Given the description of an element on the screen output the (x, y) to click on. 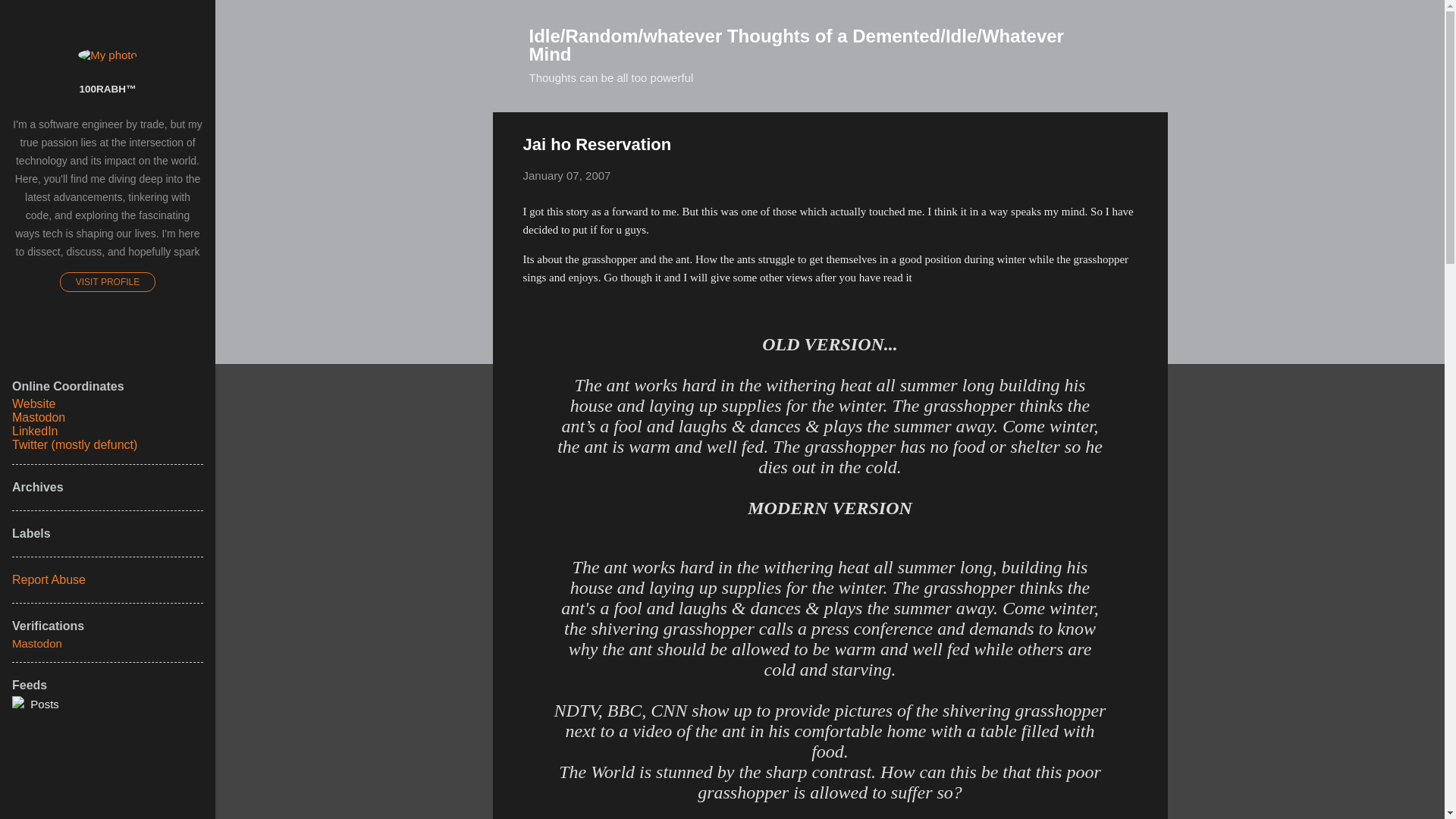
Search (29, 18)
Mastodon (38, 417)
January 07, 2007 (566, 174)
Website (33, 403)
LinkedIn (34, 431)
VISIT PROFILE (107, 281)
permanent link (566, 174)
